Given the description of an element on the screen output the (x, y) to click on. 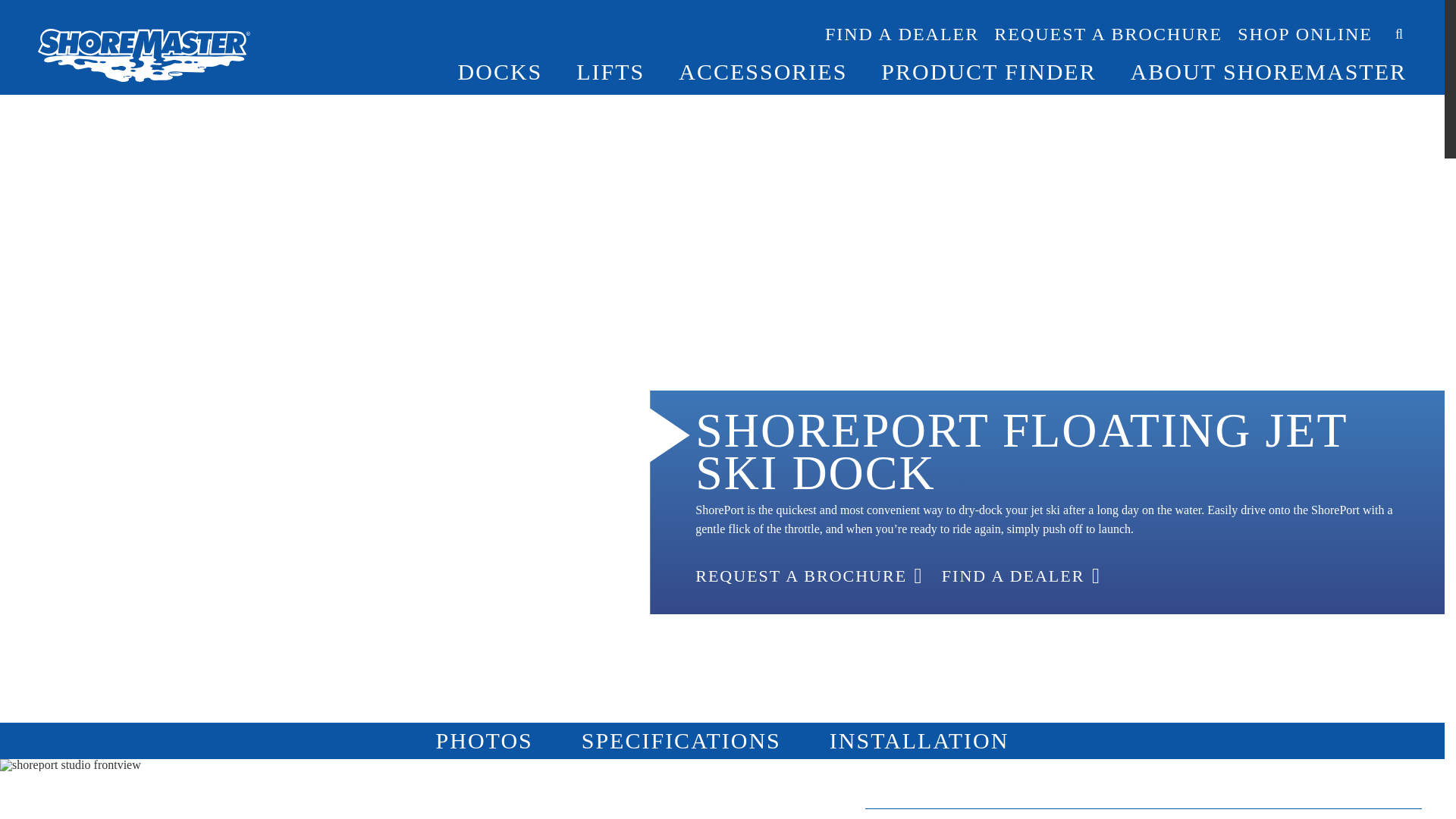
InfinityTrack Accessories (762, 17)
ACCESSORIES (762, 71)
Boat Lift Accessories (762, 58)
TowerMaxx Canopy (532, 36)
Build Your Dream Dock Today (565, 31)
ABOUT SHOREMASTER (1268, 71)
PRODUCT FINDER (988, 71)
LIFTS (610, 71)
DOCKS (500, 71)
Boat Lift Canopies (502, 4)
